Given the description of an element on the screen output the (x, y) to click on. 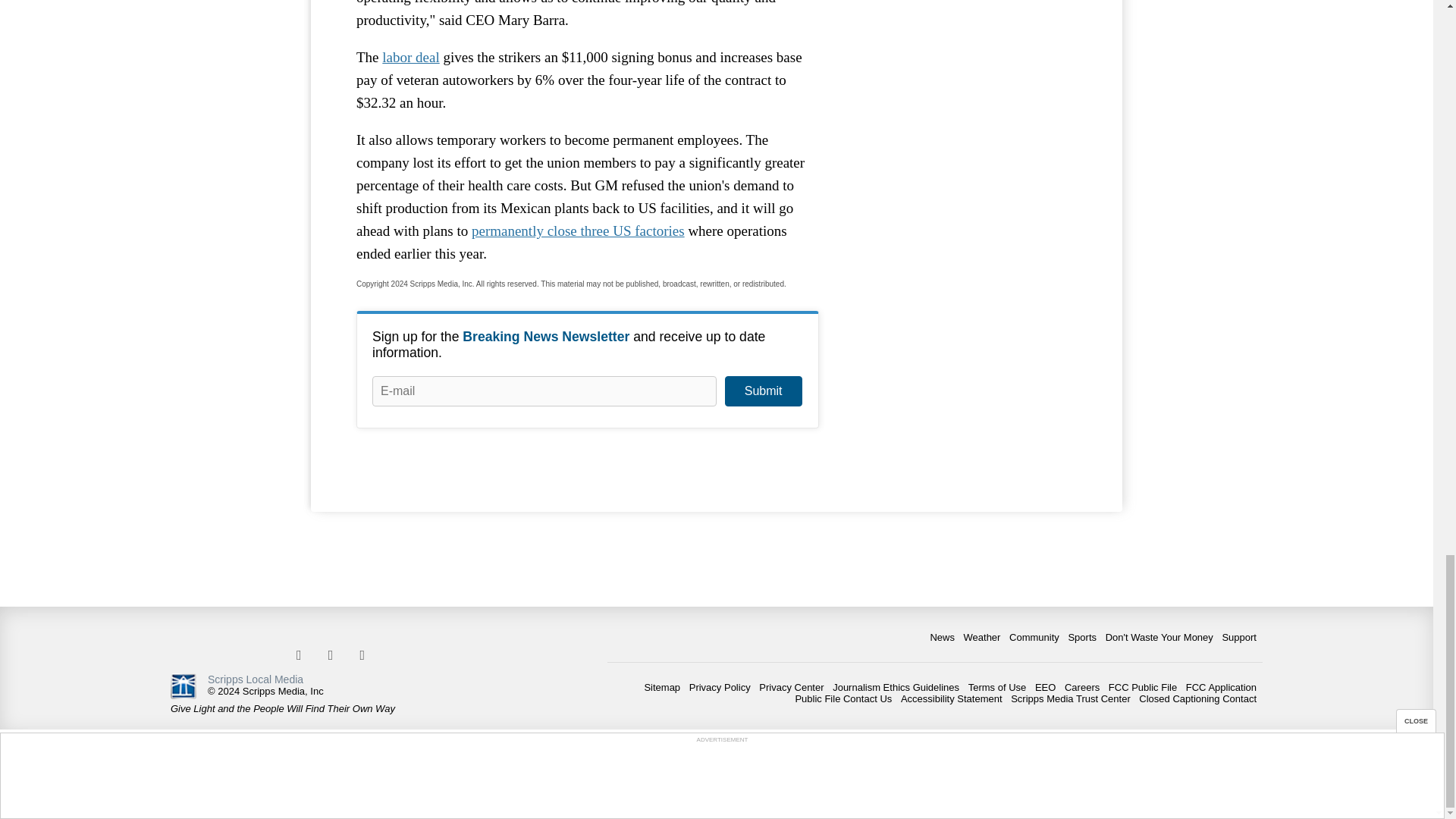
Submit (763, 390)
